Given the description of an element on the screen output the (x, y) to click on. 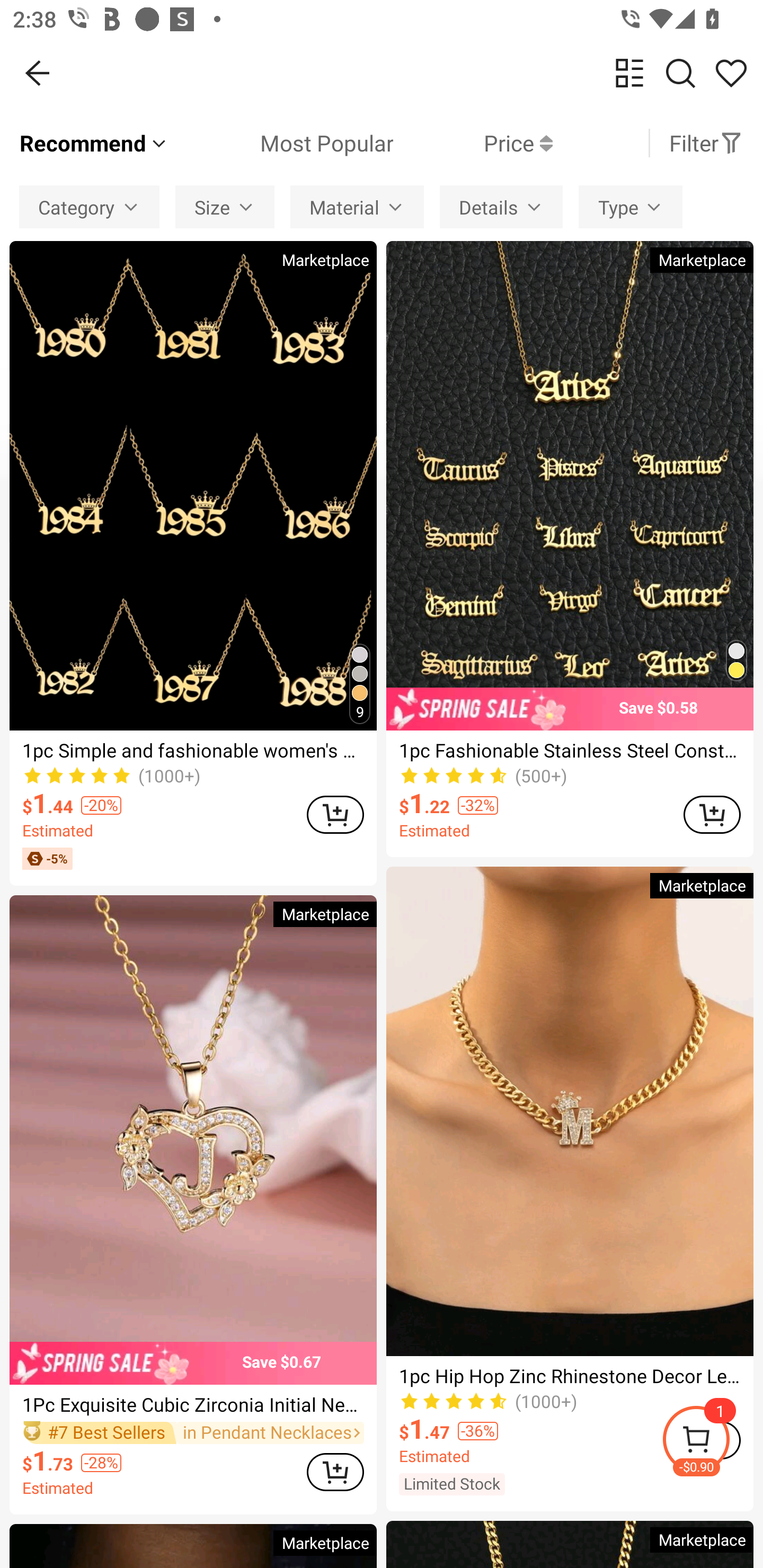
change view (629, 72)
Search (679, 72)
Share (730, 72)
Recommend (94, 143)
Most Popular (280, 143)
Price (472, 143)
Filter (705, 143)
Category (89, 206)
Size (224, 206)
Material (357, 206)
Details (501, 206)
Type (630, 206)
ADD TO CART (334, 814)
ADD TO CART (711, 814)
-$0.90 (712, 1441)
#7 Best Sellers in Pendant Necklaces (192, 1432)
ADD TO CART (334, 1472)
